Given the description of an element on the screen output the (x, y) to click on. 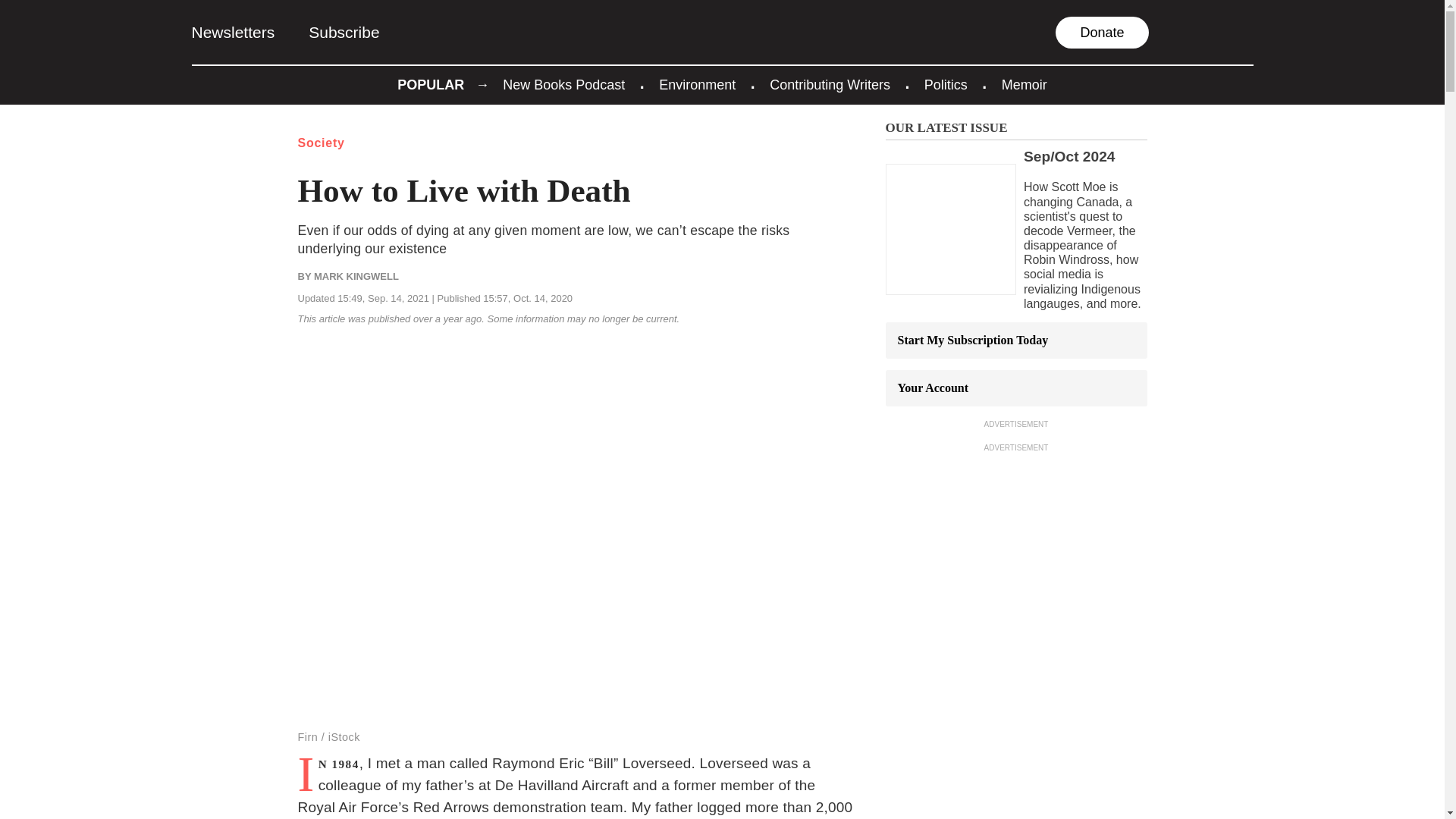
Newsletters (232, 31)
Contributing Writers (829, 85)
Subscribe (343, 31)
New Books Podcast (563, 85)
Environment (697, 85)
Politics (946, 85)
Donate (1101, 32)
Posts by Mark Kingwell (356, 276)
